Given the description of an element on the screen output the (x, y) to click on. 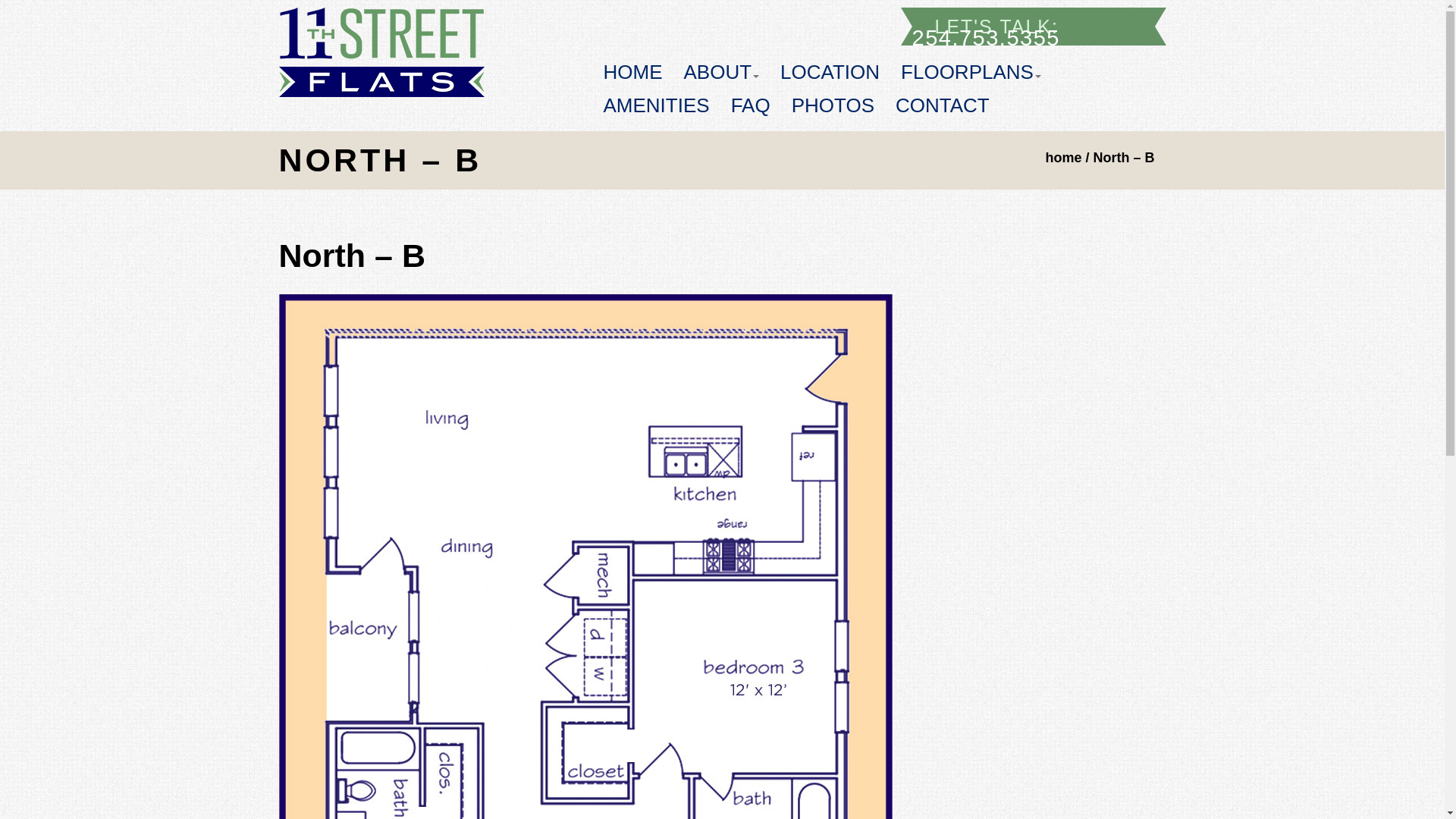
ABOUT Element type: text (721, 71)
254.753.5355 Element type: text (985, 37)
FLOORPLANS Element type: text (970, 71)
FAQ Element type: text (750, 105)
HOME Element type: text (632, 71)
LOCATION Element type: text (829, 71)
AMENITIES Element type: text (656, 105)
home Element type: text (1062, 157)
PHOTOS Element type: text (832, 105)
CONTACT Element type: text (942, 105)
